Given the description of an element on the screen output the (x, y) to click on. 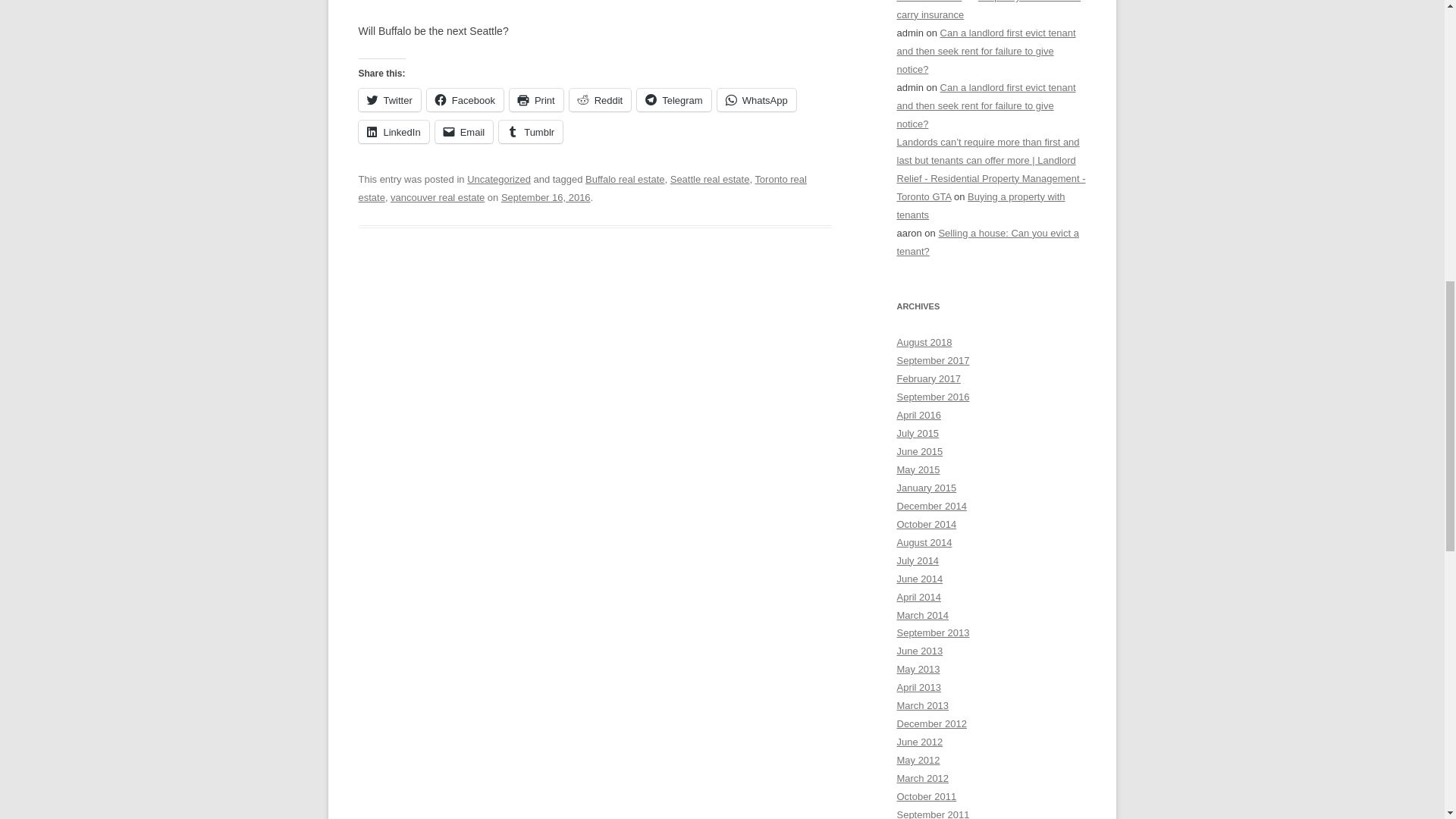
Click to print (536, 99)
Click to share on WhatsApp (756, 99)
5:30 am (545, 197)
Click to share on Facebook (464, 99)
Click to share on Tumblr (530, 131)
Click to share on Reddit (600, 99)
Click to share on LinkedIn (393, 131)
Click to share on Twitter (389, 99)
Click to email a link to a friend (464, 131)
Click to share on Telegram (673, 99)
